Given the description of an element on the screen output the (x, y) to click on. 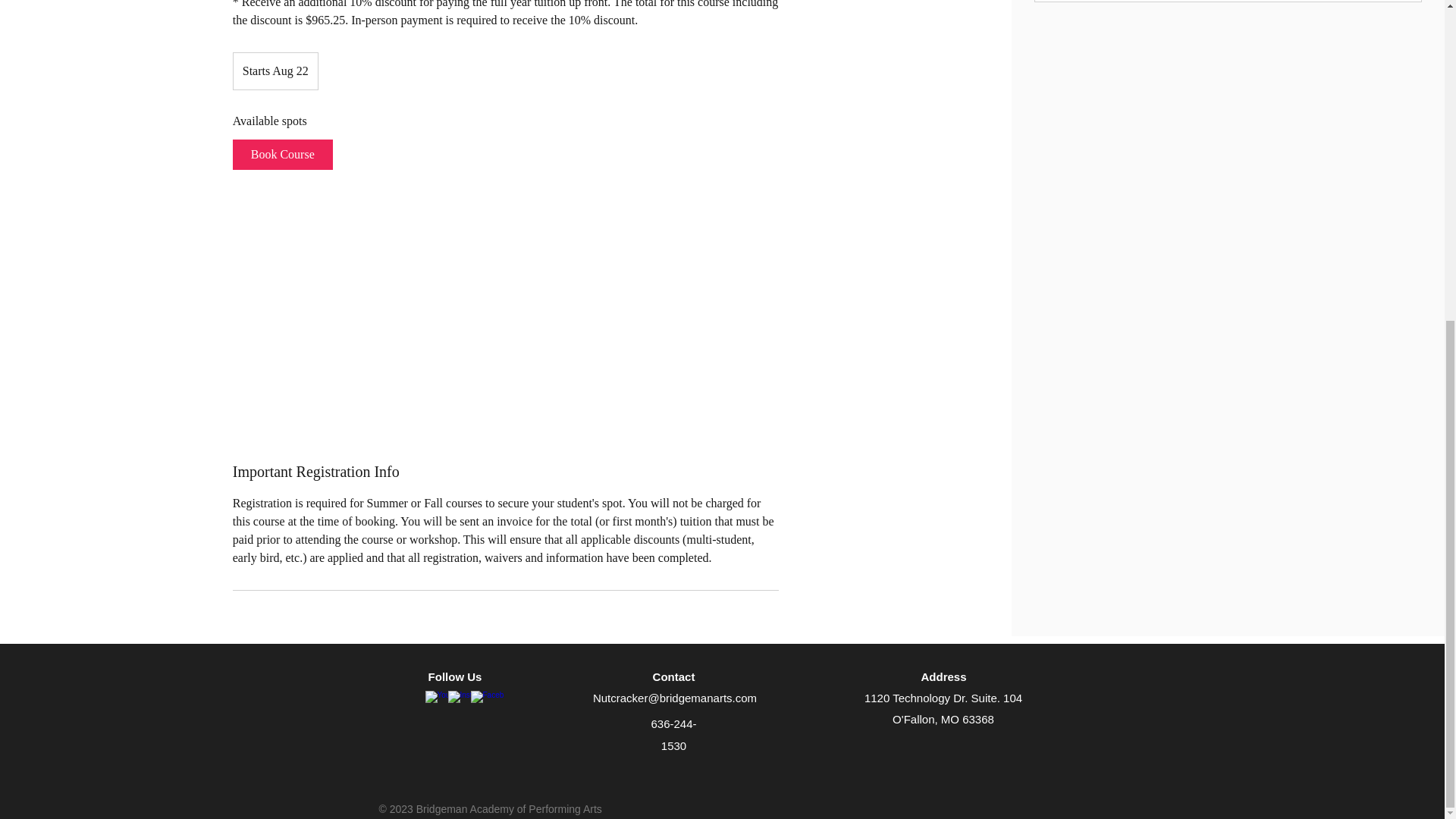
Book Course (282, 154)
